Given the description of an element on the screen output the (x, y) to click on. 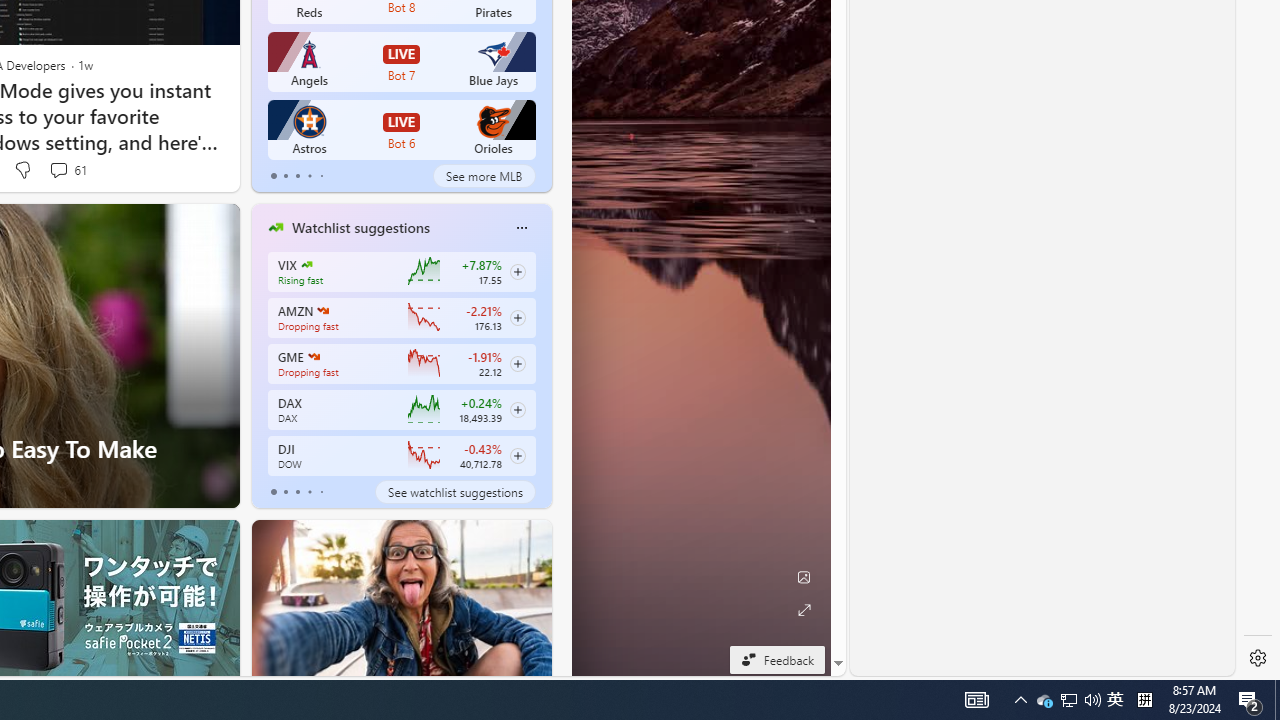
tab-3 (309, 491)
View comments 61 Comment (66, 170)
CBOE Market Volatility Index (306, 264)
GAMESTOP CORP. (313, 356)
Astros LIVE Bot 6 Orioles (401, 129)
See more MLB (484, 175)
Expand background (803, 610)
Watchlist suggestions (360, 227)
View comments 61 Comment (58, 169)
